Given the description of an element on the screen output the (x, y) to click on. 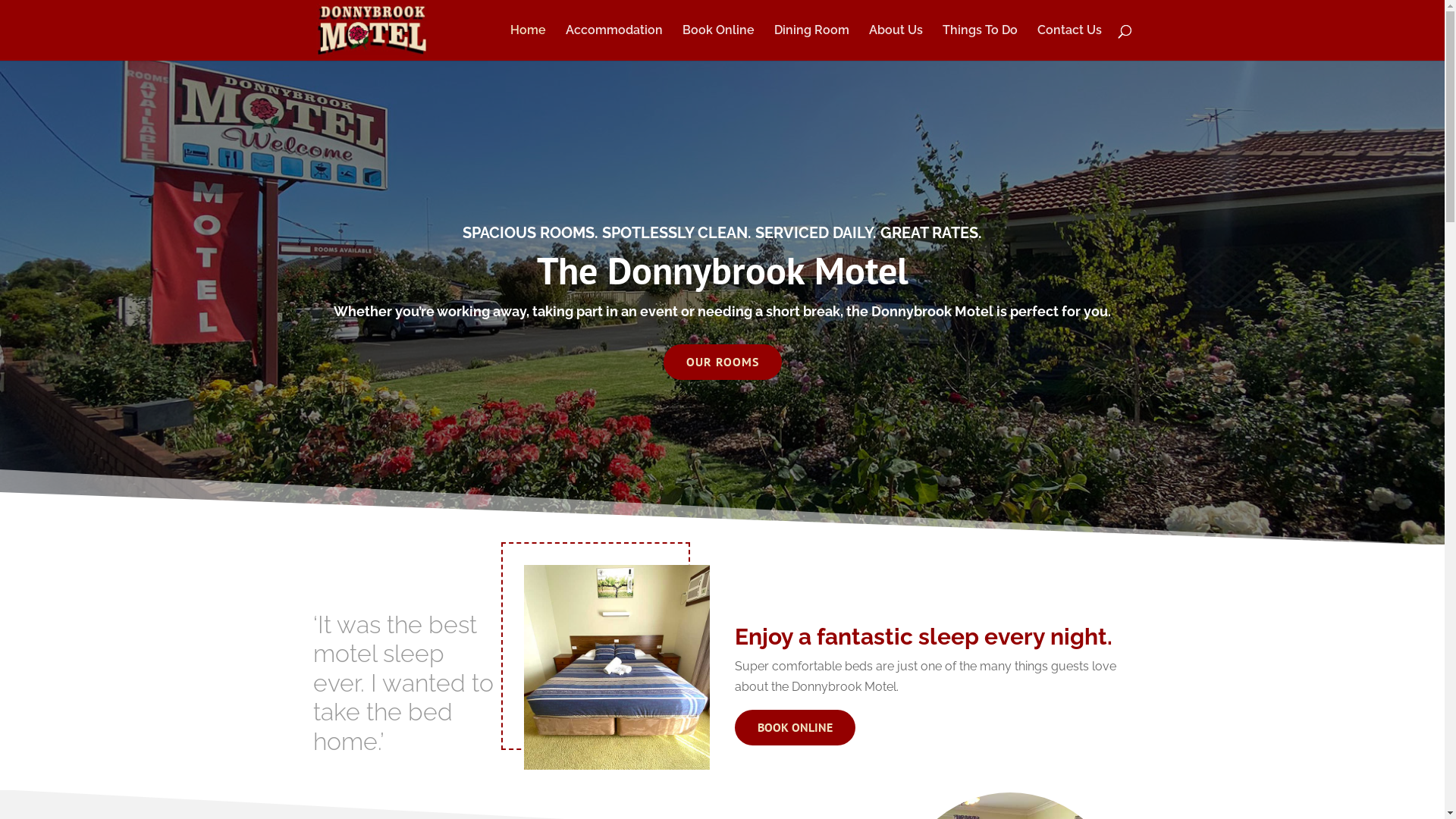
About Us Element type: text (895, 42)
Accommodation Element type: text (613, 42)
Book Online Element type: text (718, 42)
BOOK ONLINE Element type: text (794, 727)
OUR ROOMS Element type: text (721, 361)
Things To Do Element type: text (978, 42)
Dining Room Element type: text (810, 42)
Home Element type: text (527, 42)
Contact Us Element type: text (1069, 42)
